Given the description of an element on the screen output the (x, y) to click on. 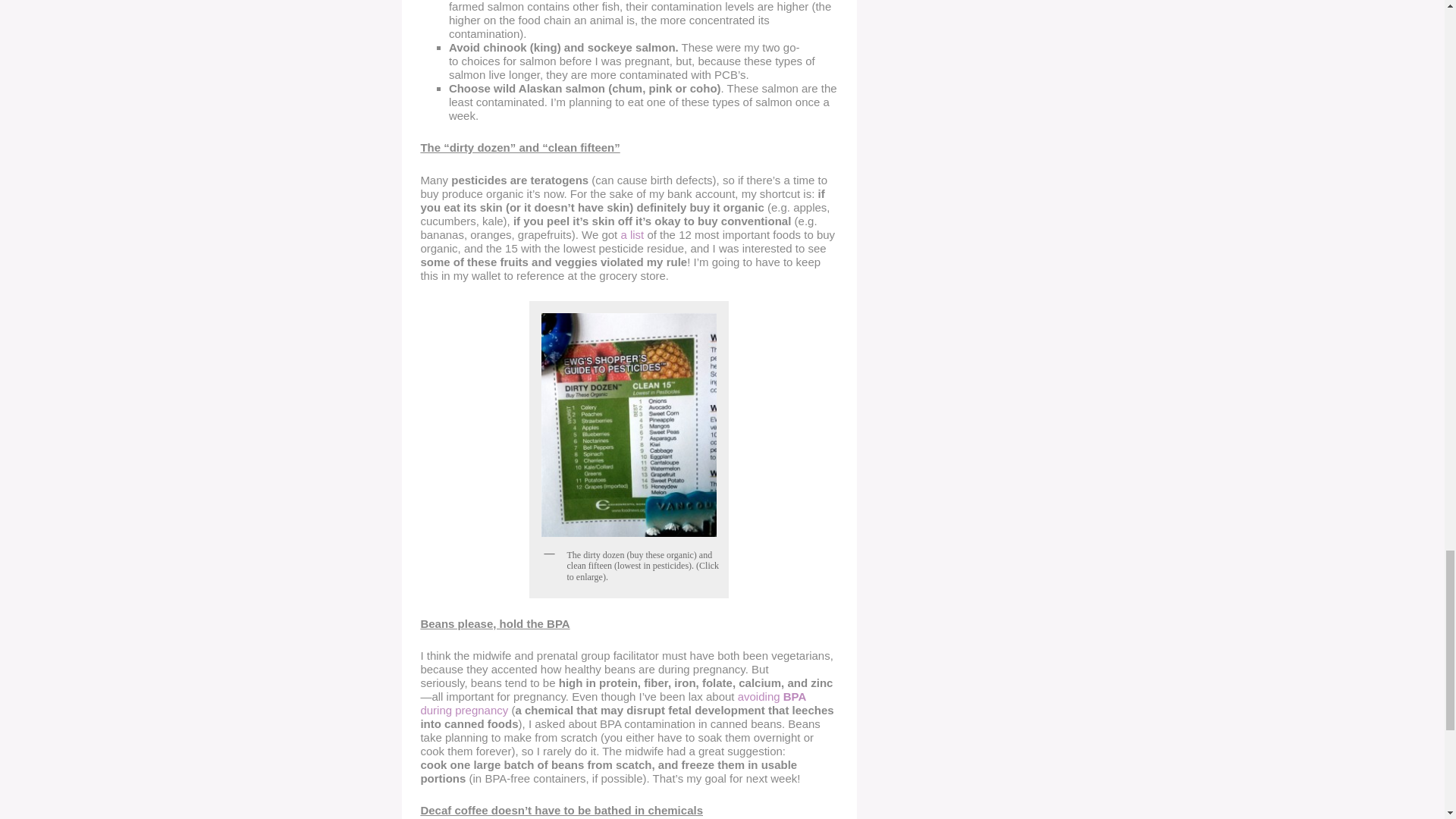
BPA-Free Pregnancy (613, 703)
a list (631, 234)
avoiding BPA during pregnancy (613, 703)
Pesticide Residue (631, 234)
